Given the description of an element on the screen output the (x, y) to click on. 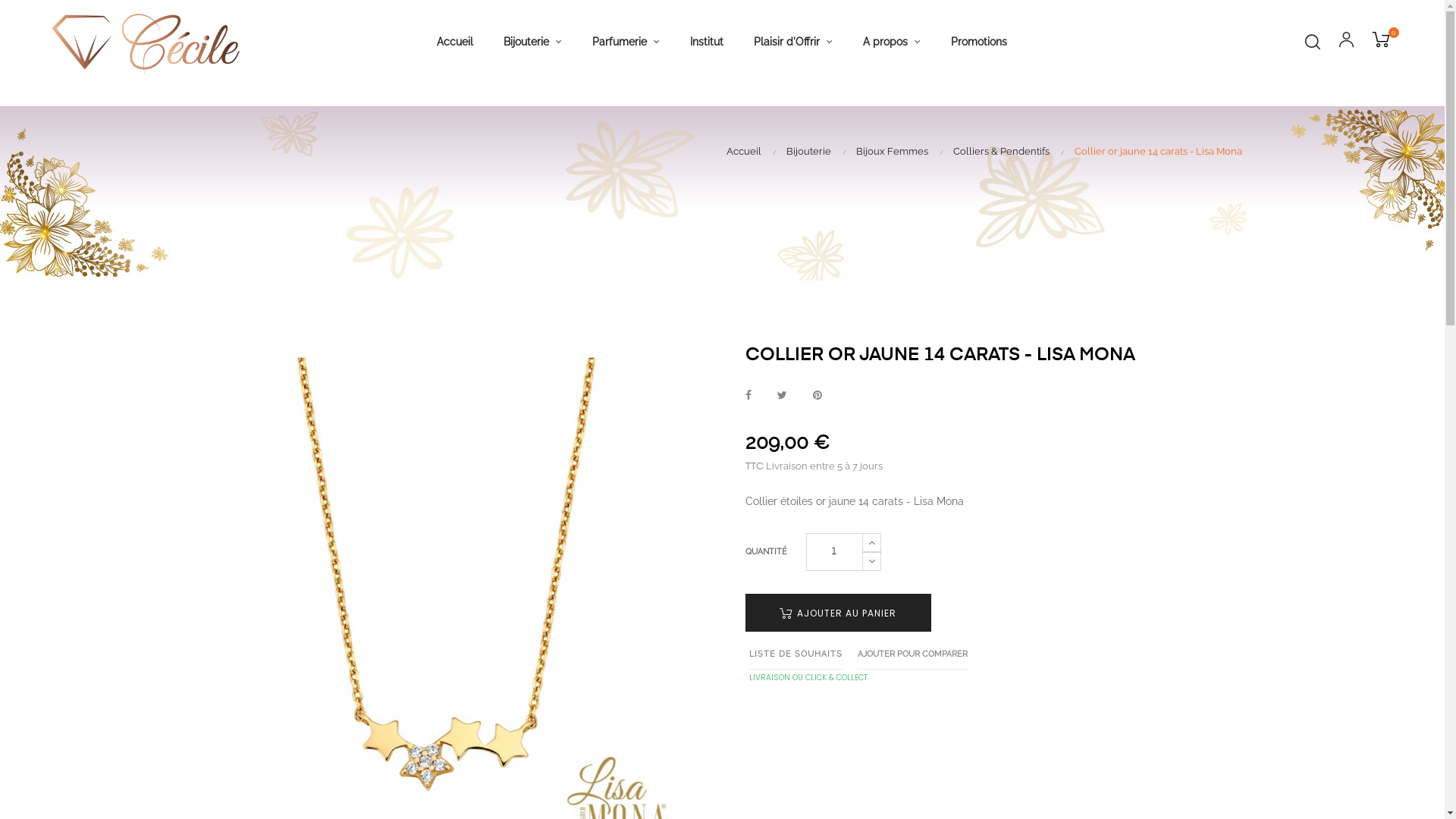
Accueil Element type: text (454, 41)
Pinterest Element type: text (817, 395)
Partager Element type: text (747, 395)
Bijoux Femmes Element type: text (895, 151)
Colliers & Pendentifs Element type: text (1004, 151)
Plaisir d'Offrir Element type: text (793, 41)
AJOUTER POUR COMPARER Element type: text (911, 654)
LISTE DE SOUHAITS Element type: text (795, 654)
Tweet Element type: text (781, 395)
Promotions Element type: text (978, 41)
Parfumerie Element type: text (625, 41)
Bijouterie Element type: text (532, 41)
A propos Element type: text (891, 41)
Collier or jaune 14 carats - Lisa Mona Element type: text (1157, 151)
Bijouterie Element type: text (811, 151)
Institut Element type: text (706, 41)
Accueil Element type: text (747, 151)
AJOUTER AU PANIER Element type: text (837, 612)
